Given the description of an element on the screen output the (x, y) to click on. 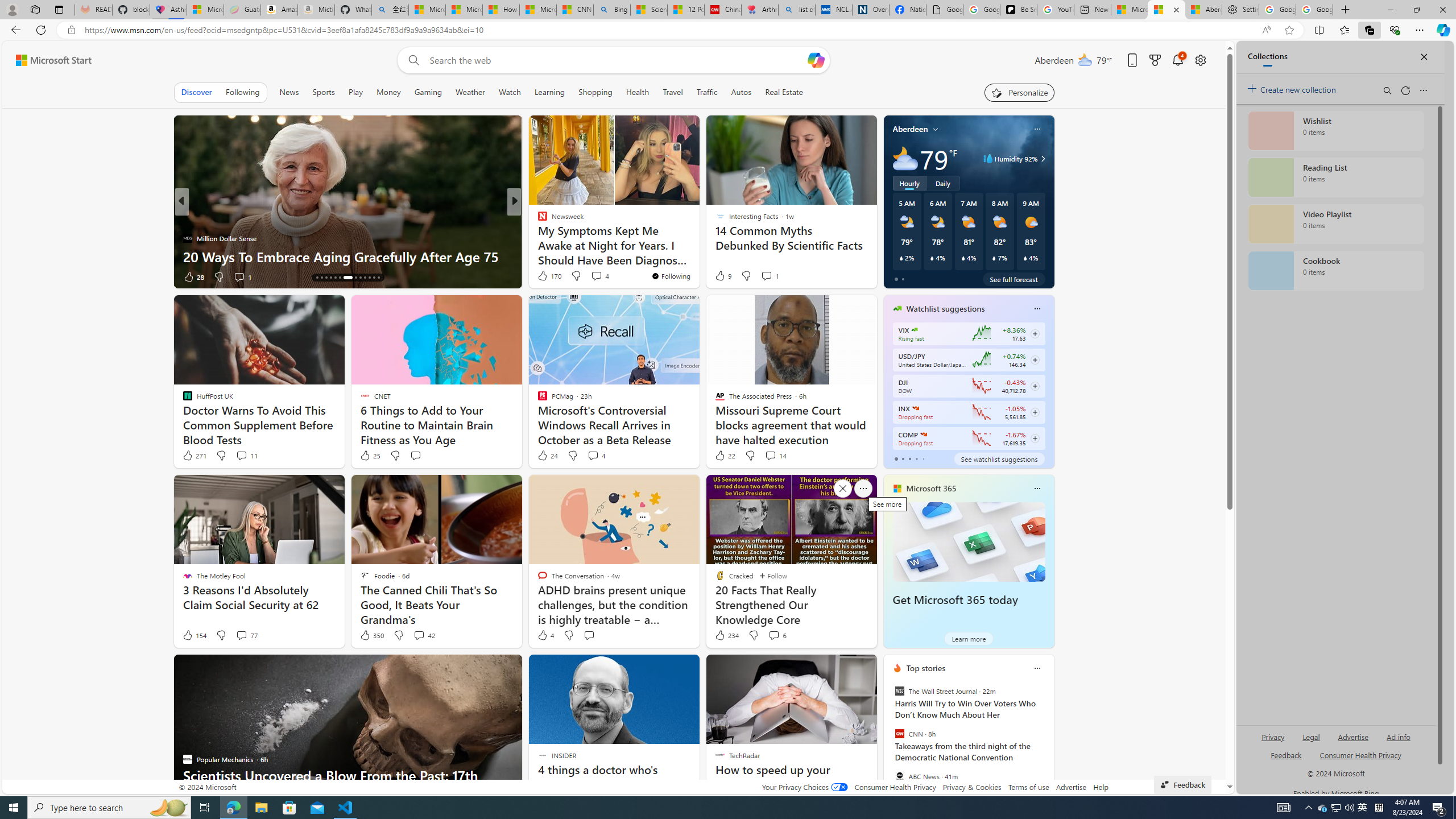
AutomationID: tab-16 (326, 277)
View comments 14 Comment (770, 455)
TODAY (537, 219)
234 Like (726, 634)
Personalize your feed" (1019, 92)
